Given the description of an element on the screen output the (x, y) to click on. 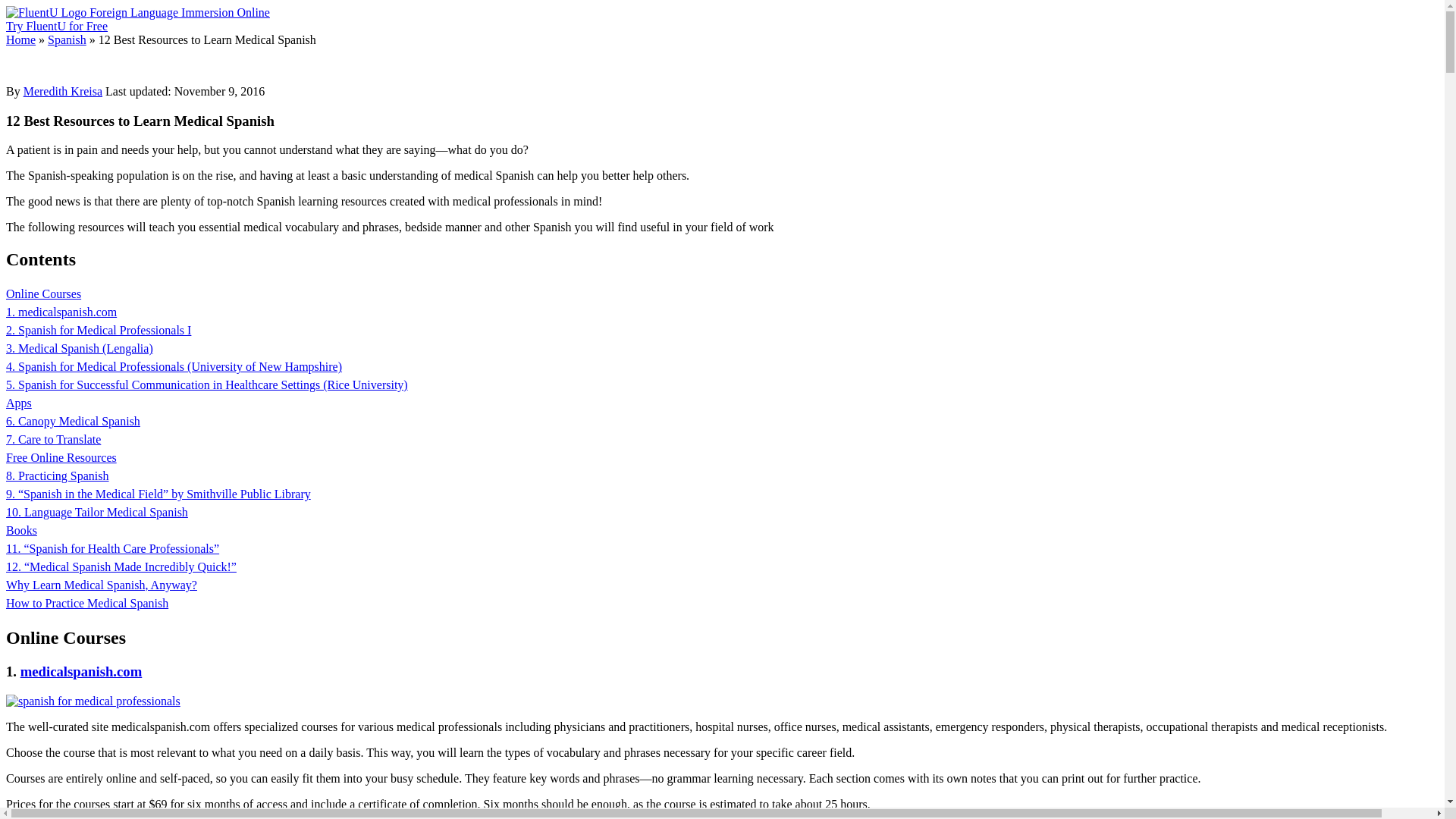
Free Online Resources (60, 457)
6. Canopy Medical Spanish (72, 420)
7. Care to Translate (52, 439)
8. Practicing Spanish (57, 475)
10. Language Tailor Medical Spanish (96, 512)
How to Practice Medical Spanish (86, 603)
Books (21, 530)
Why Learn Medical Spanish, Anyway? (100, 584)
Spanish (66, 39)
To homepage (46, 11)
